Given the description of an element on the screen output the (x, y) to click on. 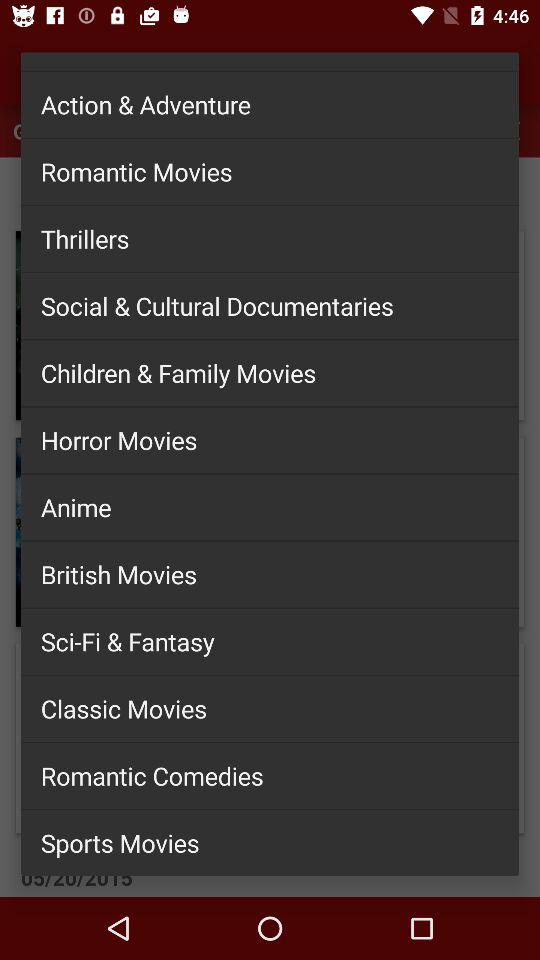
turn on classic movies (269, 708)
